Given the description of an element on the screen output the (x, y) to click on. 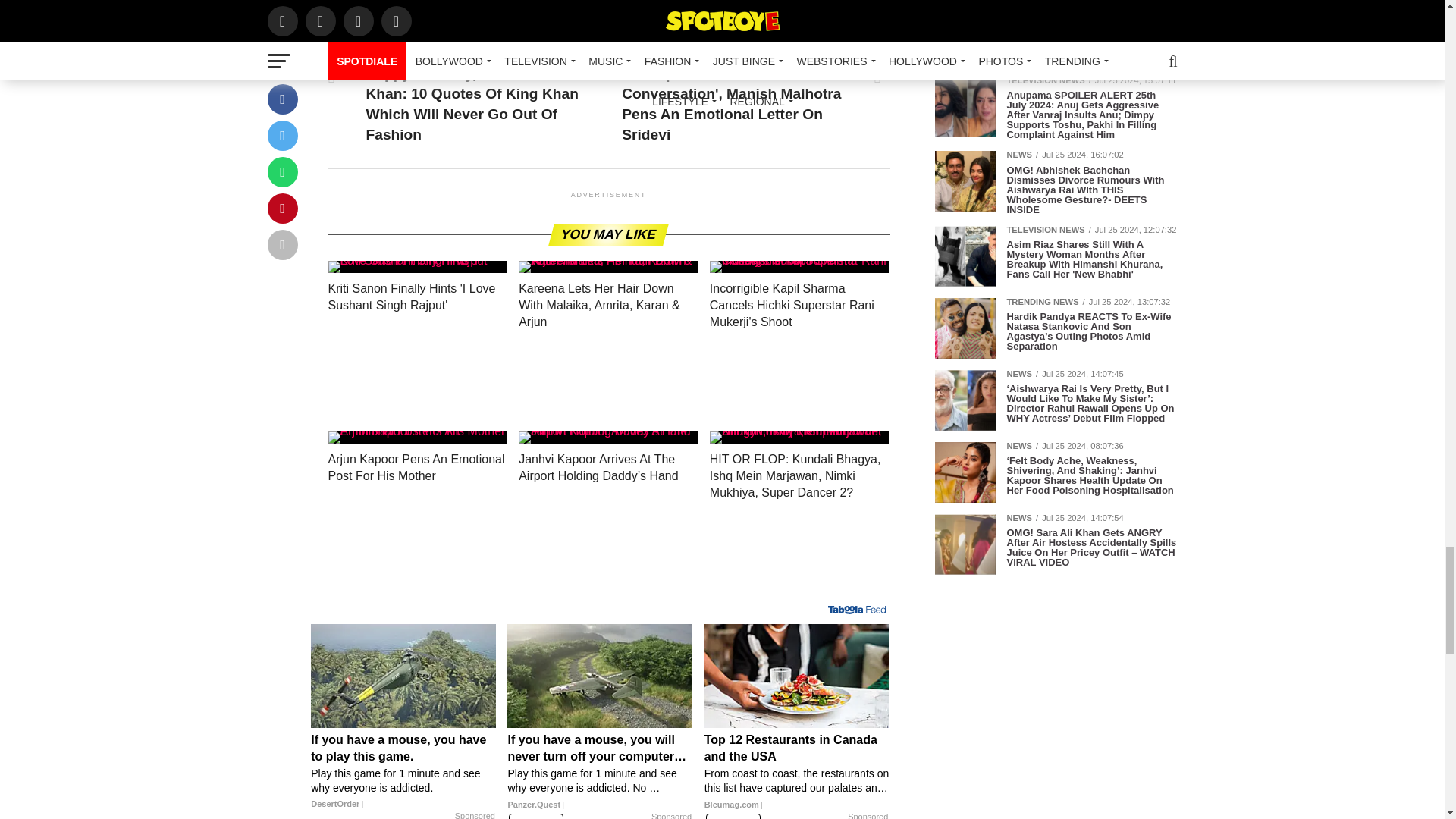
Top 12 Restaurants in Canada and the USA (796, 775)
